Given the description of an element on the screen output the (x, y) to click on. 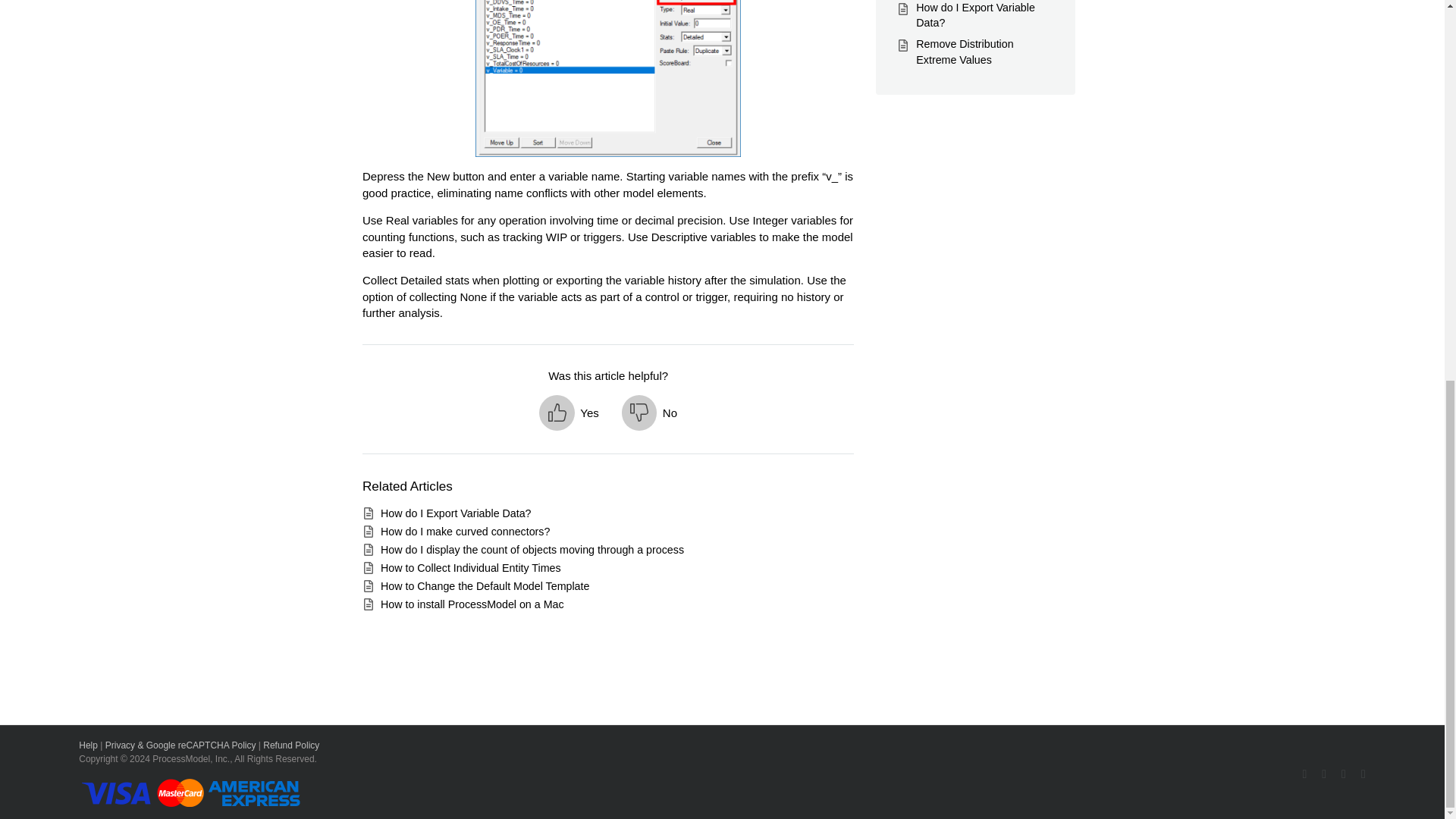
How do I make curved connectors? (465, 531)
How to install ProcessModel on a Mac (472, 604)
How do I Export Variable Data? (975, 15)
How to Collect Individual Entity Times (470, 567)
How to Change the Default Model Template (484, 585)
Remove Distribution Extreme Values (964, 51)
Refund Policy (290, 745)
Yes (568, 412)
No (649, 412)
